Given the description of an element on the screen output the (x, y) to click on. 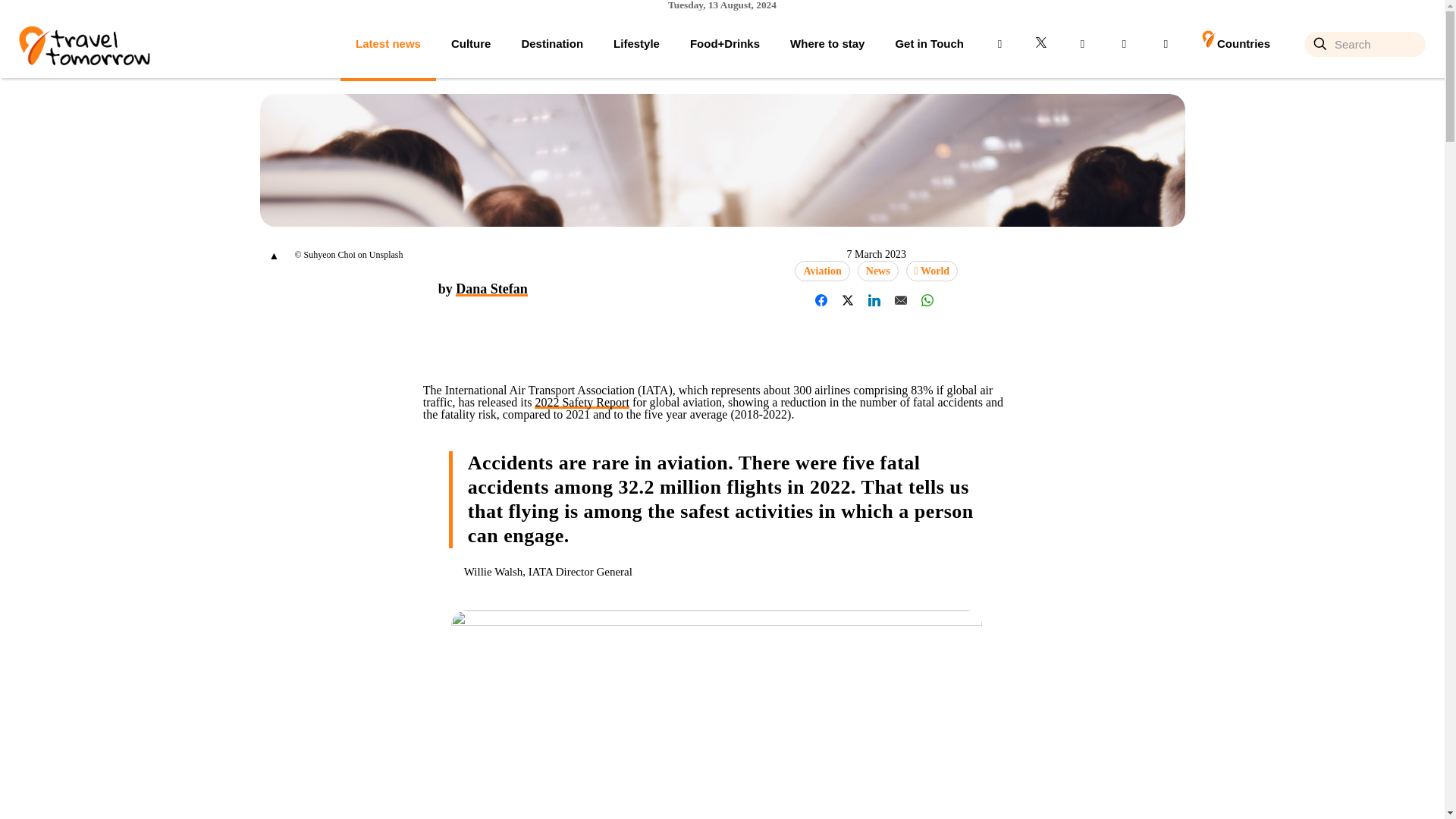
Share on Twitter (847, 300)
Share on LinkedIn (874, 300)
Travel Tomorrow (83, 43)
Lifestyle (636, 43)
Destination (551, 43)
Share on WhatsApp (927, 300)
Share on Email (900, 300)
Culture (470, 43)
Latest news (387, 43)
Share on Facebook (820, 300)
